Given the description of an element on the screen output the (x, y) to click on. 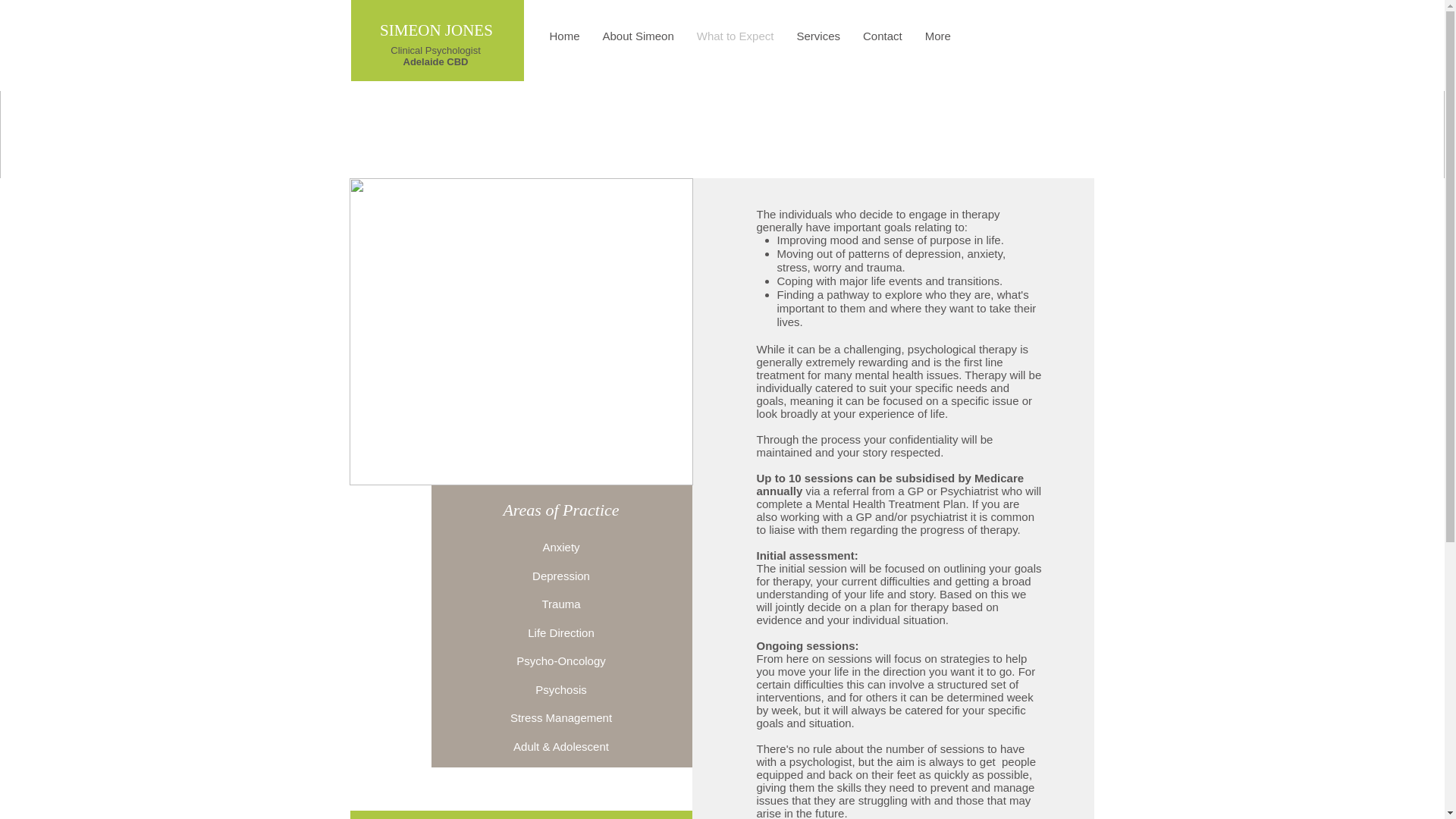
Services (817, 38)
Coffee Table (521, 331)
What to Expect (735, 38)
Contact (882, 38)
About Simeon (638, 38)
Clinical Psychologist (435, 50)
SIMEON JONES (436, 30)
Home (564, 38)
